Given the description of an element on the screen output the (x, y) to click on. 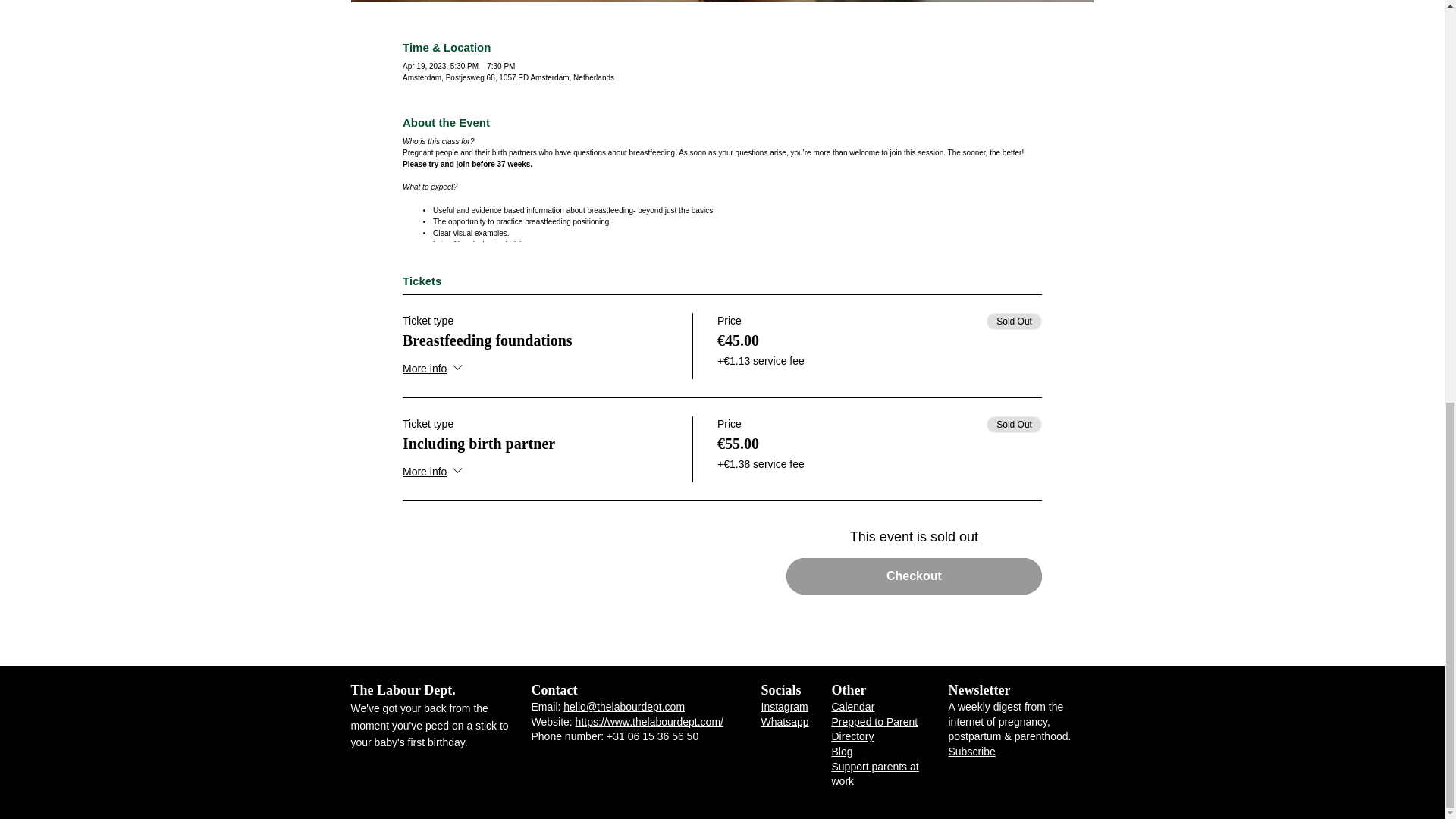
Instagram (784, 706)
More info (434, 472)
Subscribe (970, 751)
Checkout (914, 575)
Calendar (853, 706)
Directory (852, 736)
More info (434, 369)
Prepped to Parent (874, 721)
Support parents at work (874, 774)
Blog (841, 751)
Whatsapp (785, 721)
